Given the description of an element on the screen output the (x, y) to click on. 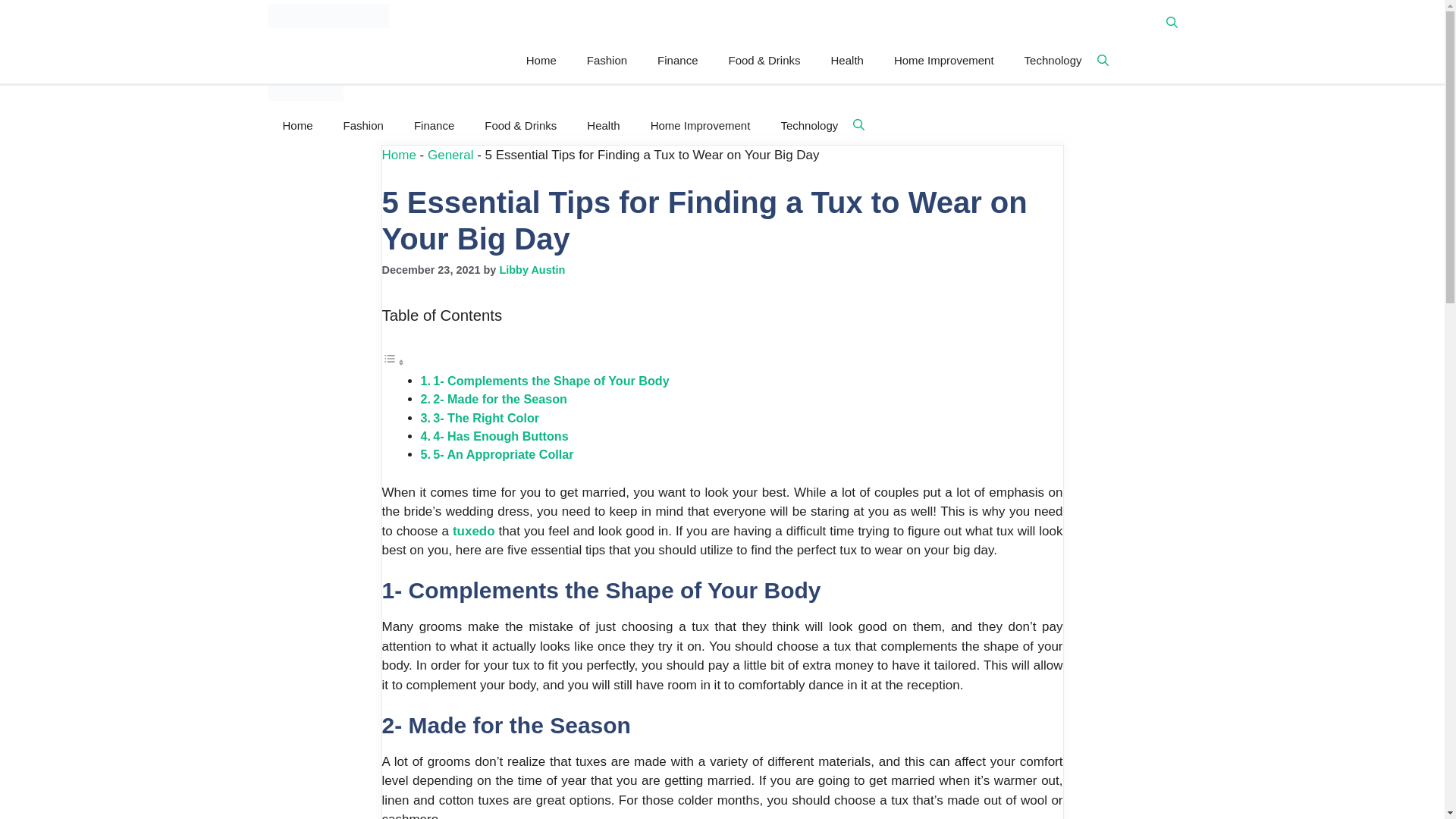
Home (296, 125)
Home (398, 154)
Health (603, 125)
Finance (677, 60)
Fashion (607, 60)
Home (541, 60)
Technology (1053, 60)
tuxedo (473, 531)
1- Complements the Shape of Your Body (550, 380)
4- Has Enough Buttons (499, 436)
5- An Appropriate Collar (502, 454)
View all posts by Libby Austin (531, 269)
Home Improvement (699, 125)
5- An Appropriate Collar (502, 454)
1- Complements the Shape of Your Body (550, 380)
